Given the description of an element on the screen output the (x, y) to click on. 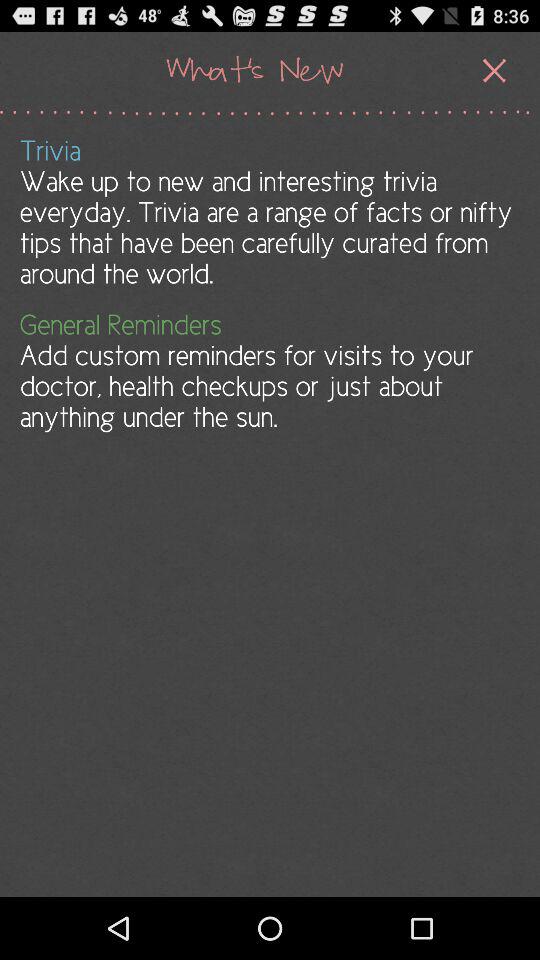
select icon below the trivia wake up (268, 370)
